Given the description of an element on the screen output the (x, y) to click on. 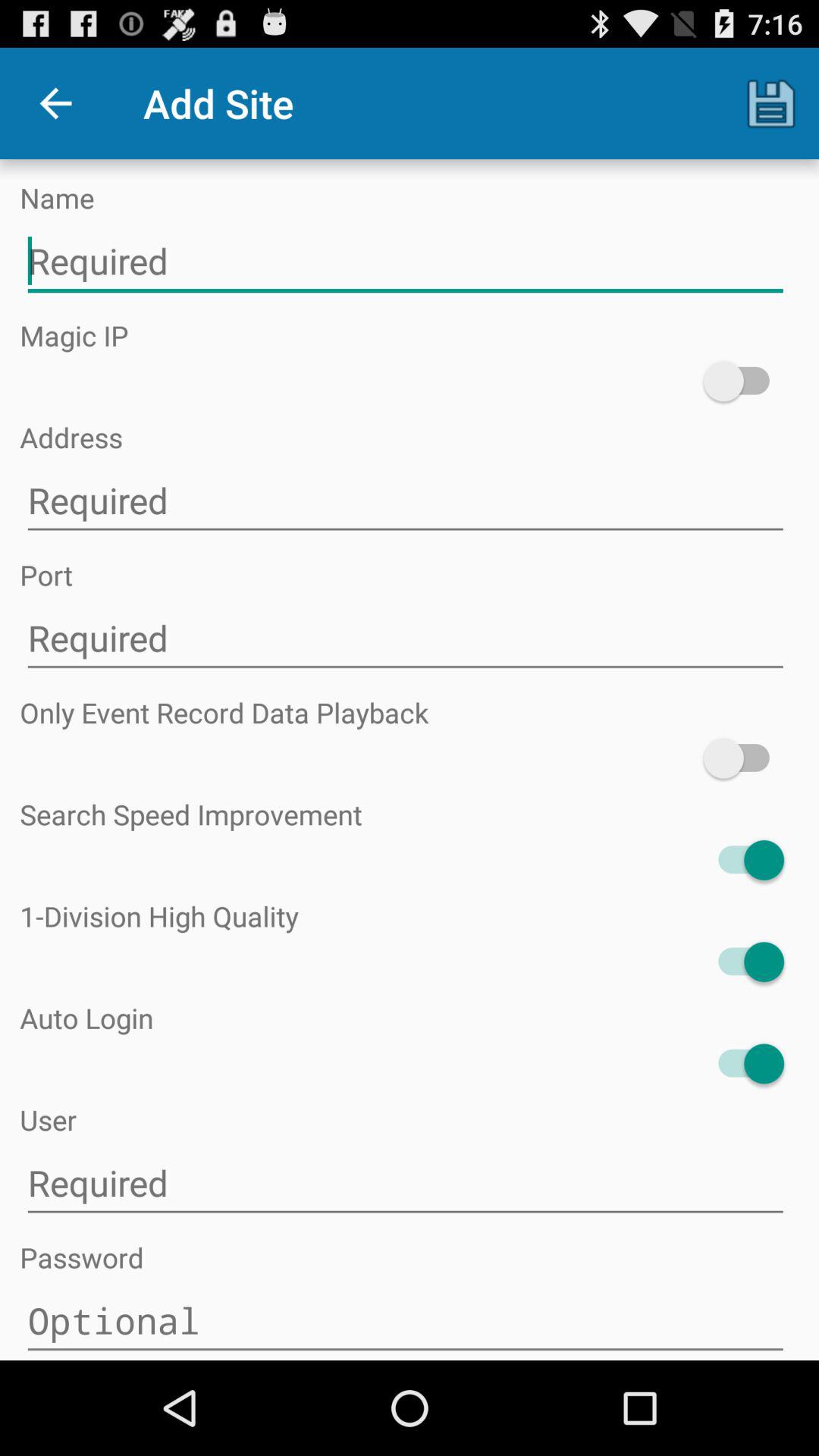
turn on the item next to the add site item (771, 103)
